Given the description of an element on the screen output the (x, y) to click on. 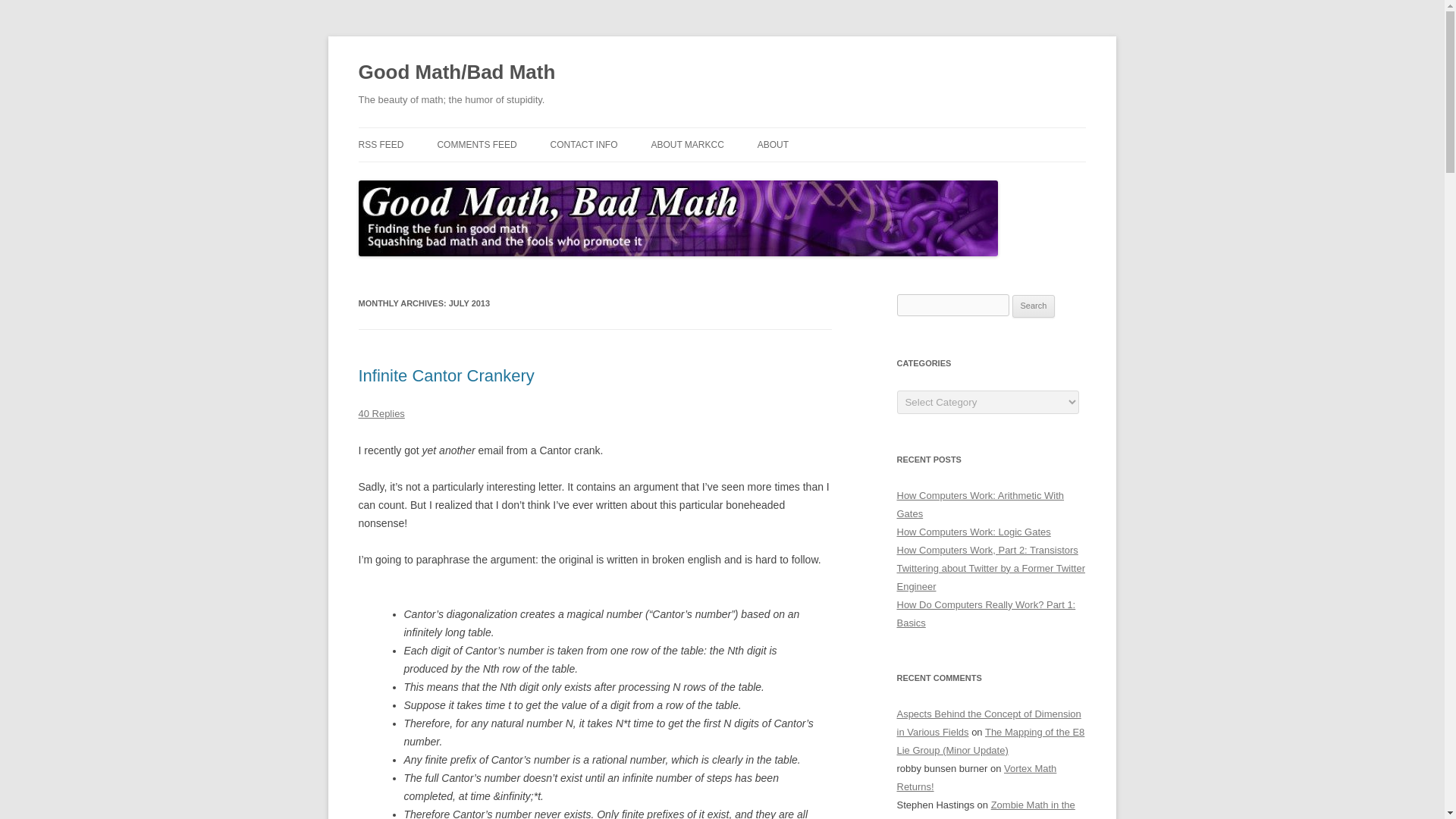
Aspects Behind the Concept of Dimension in Various Fields (988, 722)
How Computers Work, Part 2: Transistors (986, 550)
40 Replies (381, 413)
How Computers Work: Logic Gates (972, 531)
Twittering about Twitter by a Former Twitter Engineer (990, 577)
Search (1033, 305)
How Do Computers Really Work? Part 1: Basics (985, 613)
How Computers Work: Arithmetic With Gates (980, 504)
RSS FEED (380, 144)
ABOUT (773, 144)
Zombie Math in the Vortex (985, 809)
CONTACT INFO (583, 144)
ABOUT MARKCC (686, 144)
